Given the description of an element on the screen output the (x, y) to click on. 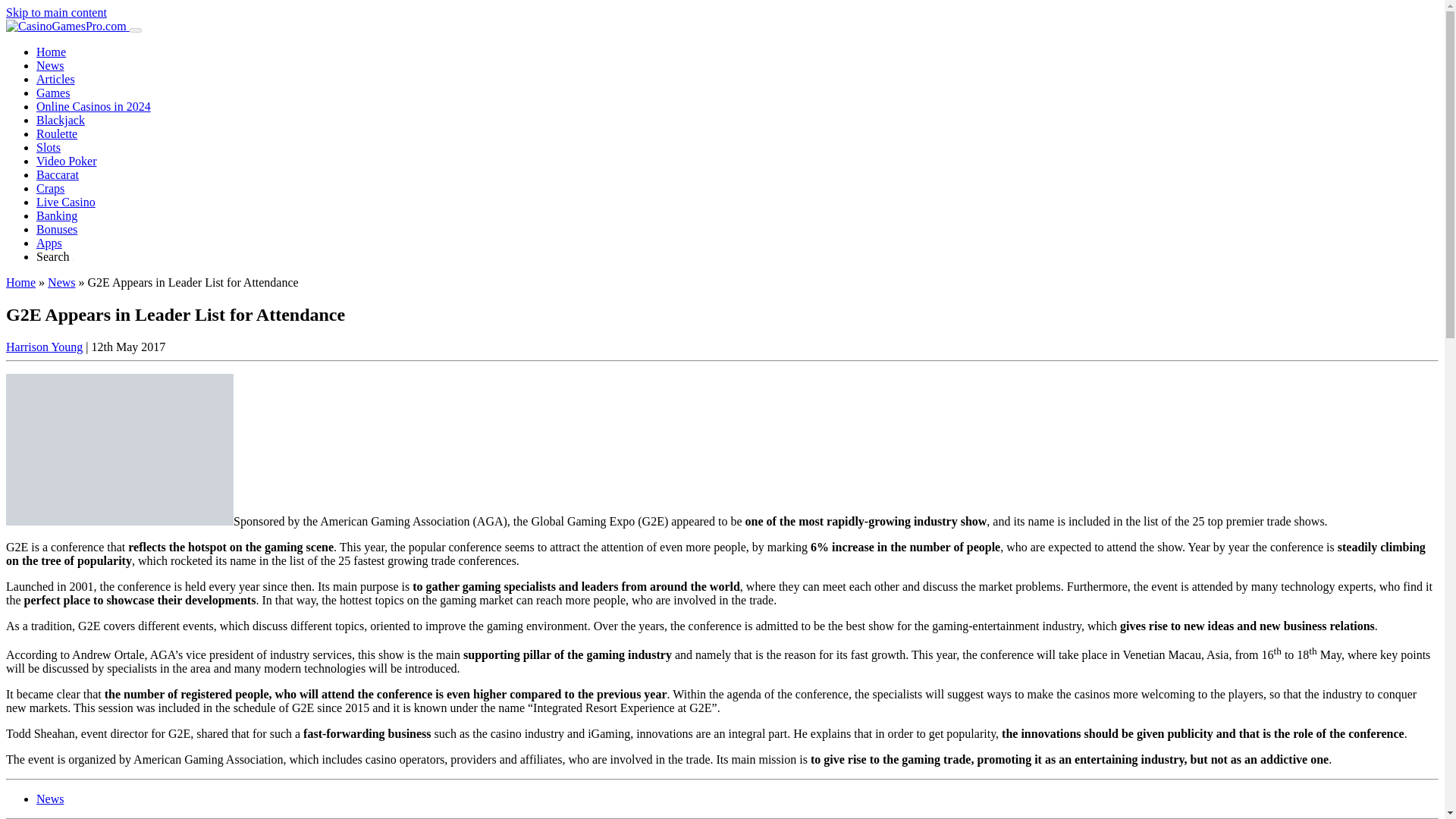
News (61, 282)
News (50, 65)
Search (55, 256)
Online Casinos in 2024 (93, 106)
Slots (48, 146)
Live Casino (66, 201)
Games (52, 92)
Bonuses (56, 228)
Home (50, 51)
Home (19, 282)
Video Poker (66, 160)
Apps (49, 242)
Slots (48, 146)
View all posts by Harrison Young (43, 346)
Online Casinos in 2024 (93, 106)
